Given the description of an element on the screen output the (x, y) to click on. 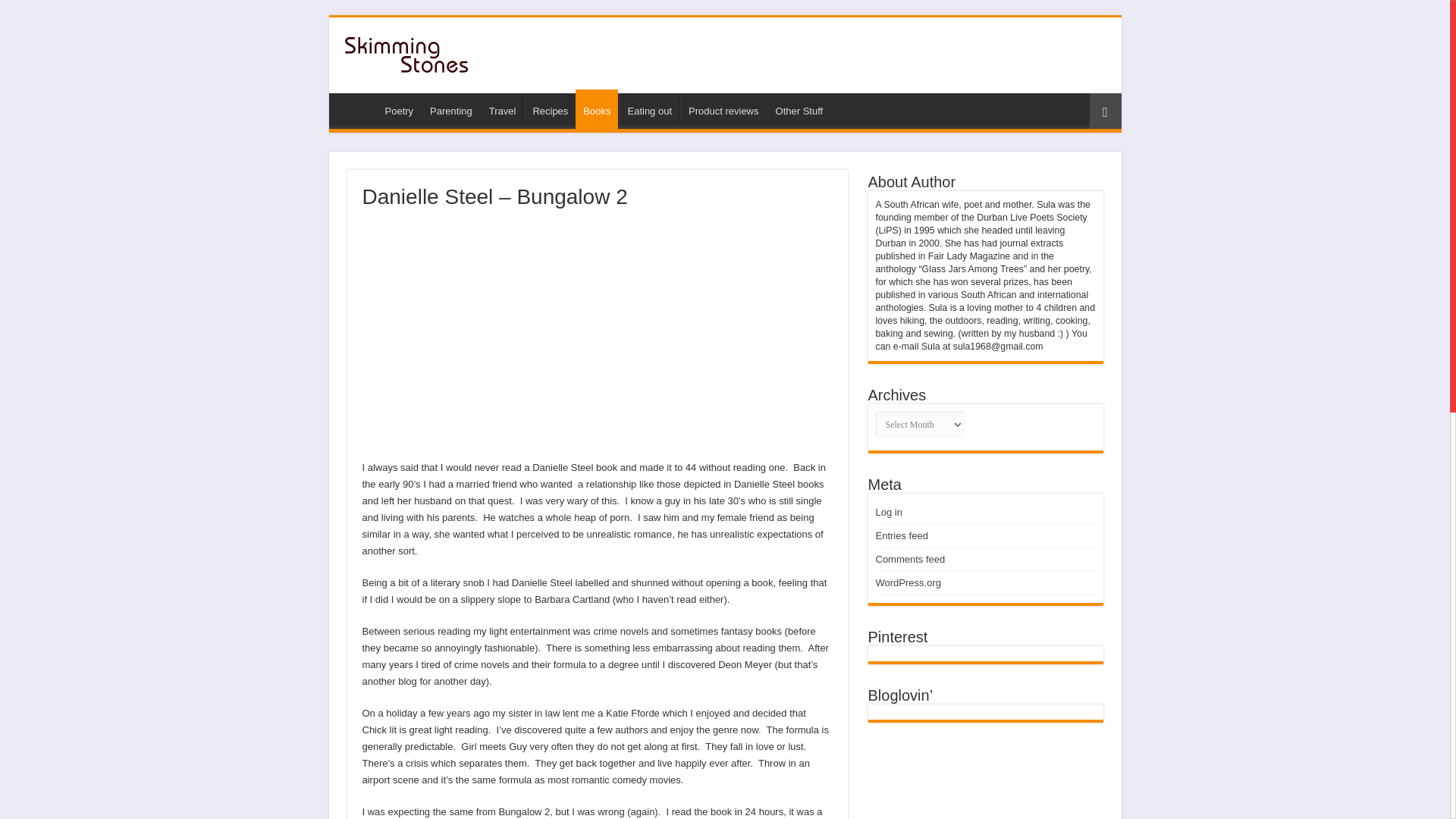
Travel (502, 109)
Home (355, 109)
Recipes (549, 109)
Product reviews (722, 109)
Log in (888, 511)
WordPress.org (907, 582)
No Category (799, 109)
Other Stuff (799, 109)
Entries feed (901, 535)
Comments feed (909, 559)
Eating out (648, 109)
Poetry (397, 109)
Parenting (451, 109)
Random Article (1105, 110)
